Given the description of an element on the screen output the (x, y) to click on. 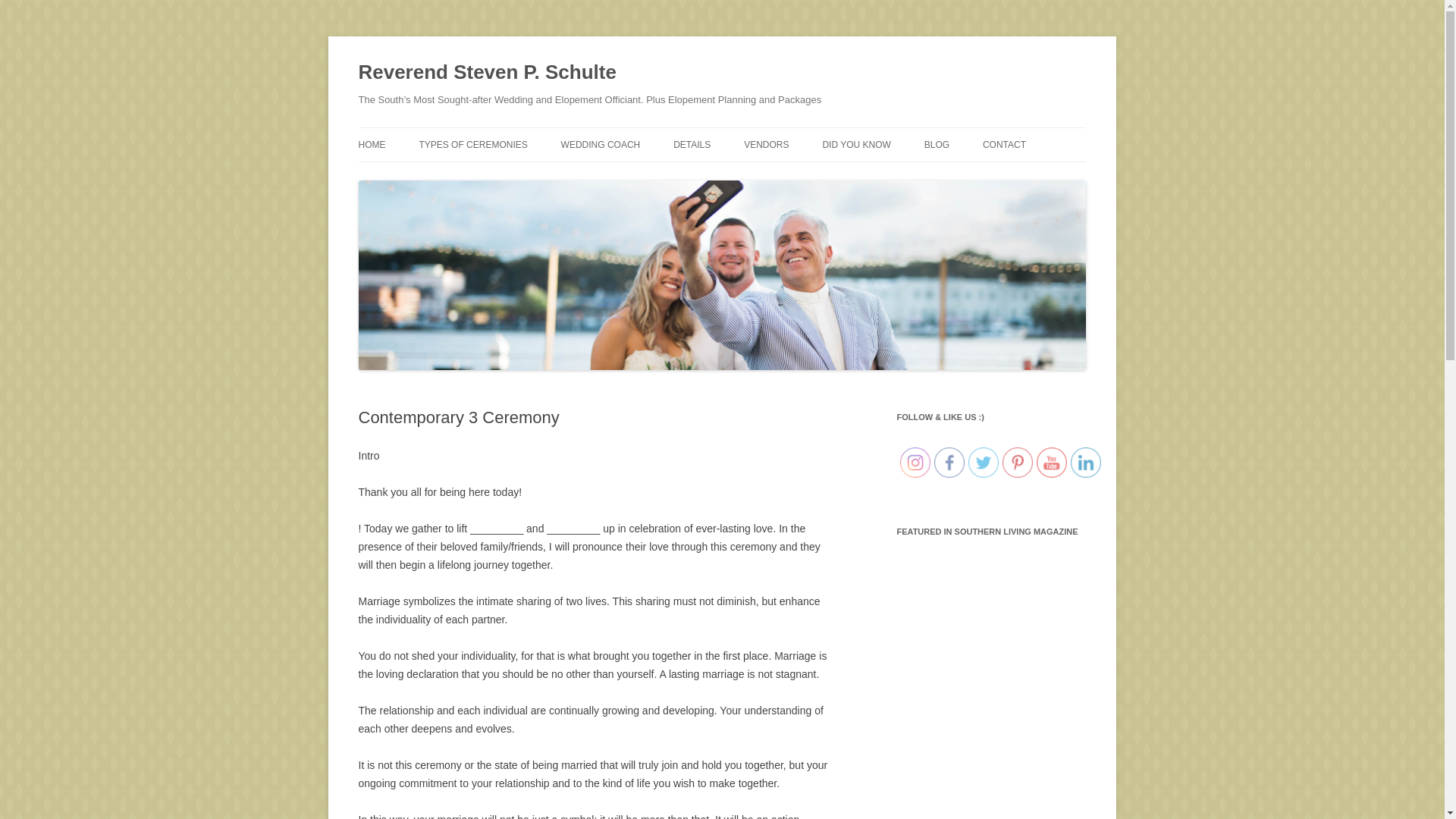
MAP (898, 176)
TRADITIONAL (494, 176)
VENDORS (766, 144)
TYPES OF CEREMONIES (473, 144)
Twitter (982, 462)
Facebook (948, 462)
WEDDING COACH (600, 144)
CONTACT (1004, 144)
DETAILS (691, 144)
